Given the description of an element on the screen output the (x, y) to click on. 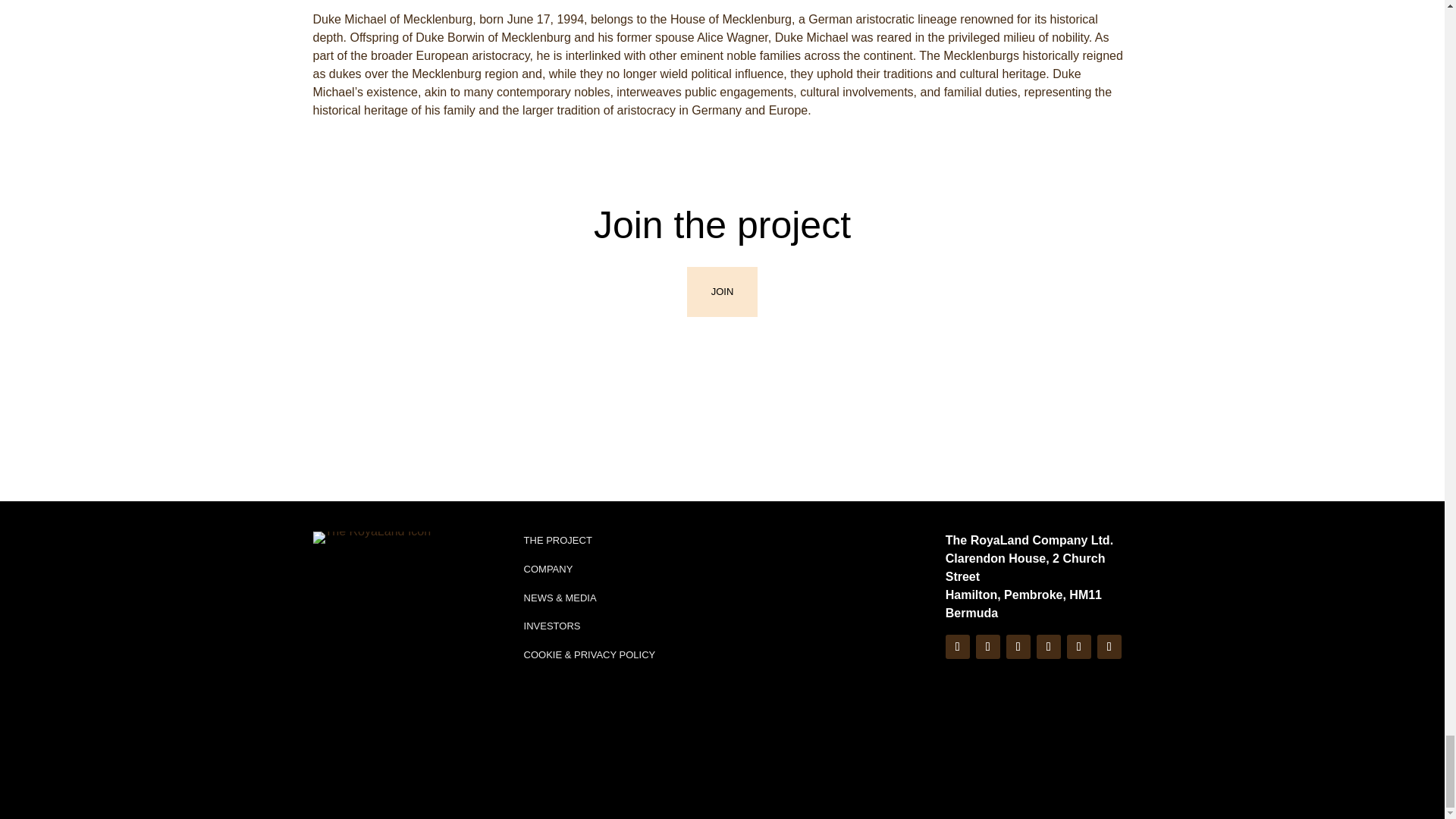
Icona RoyaLand (371, 537)
COMPANY (548, 568)
JOIN (722, 291)
THE PROJECT (558, 540)
INVESTORS (552, 625)
